Given the description of an element on the screen output the (x, y) to click on. 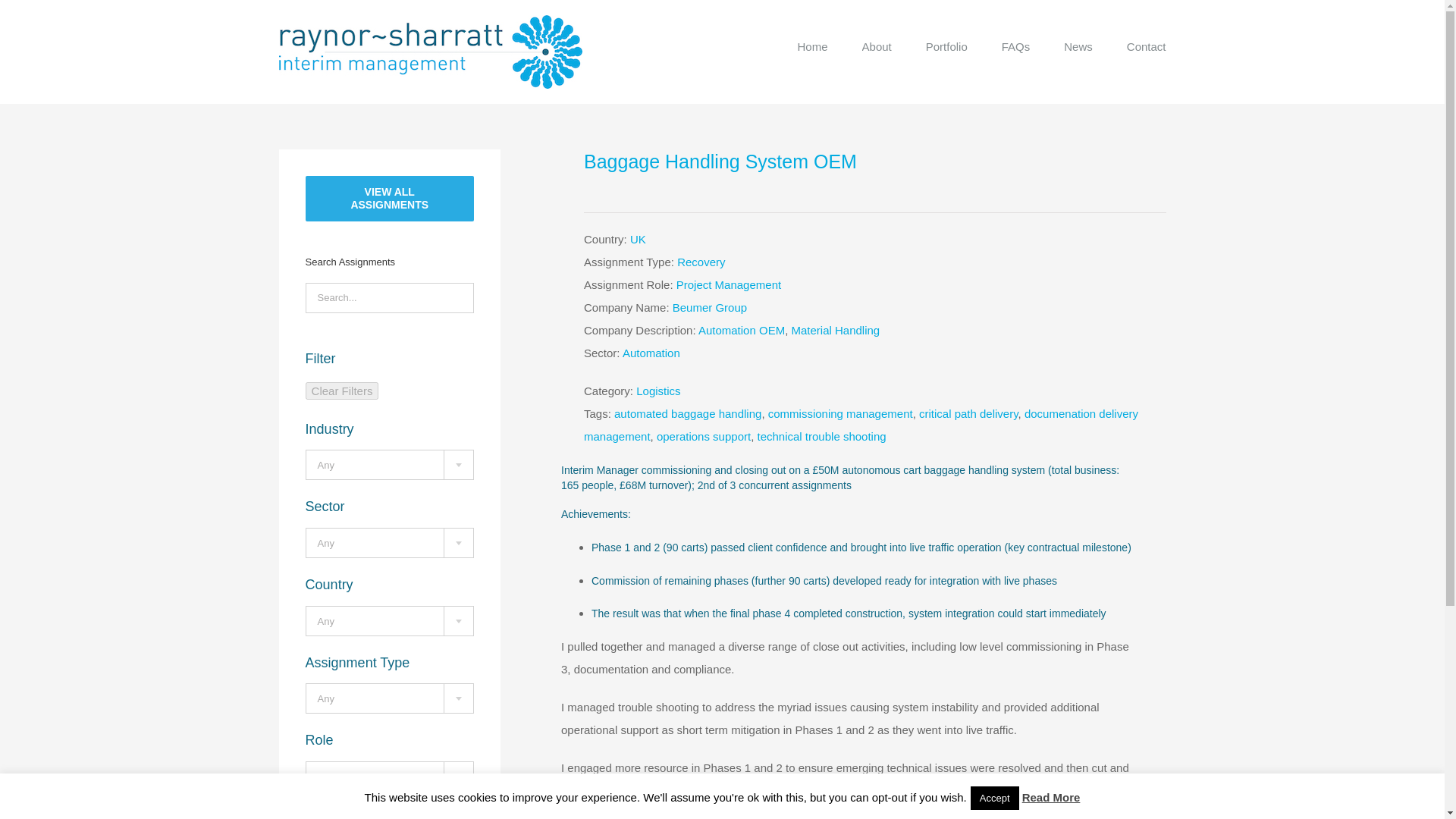
Project Management (728, 284)
Automation (651, 352)
Beumer Group (709, 307)
technical trouble shooting (821, 436)
critical path delivery (967, 413)
commissioning management (840, 413)
Any (389, 621)
Logistics (657, 390)
Any (389, 777)
Recovery (701, 261)
